Given the description of an element on the screen output the (x, y) to click on. 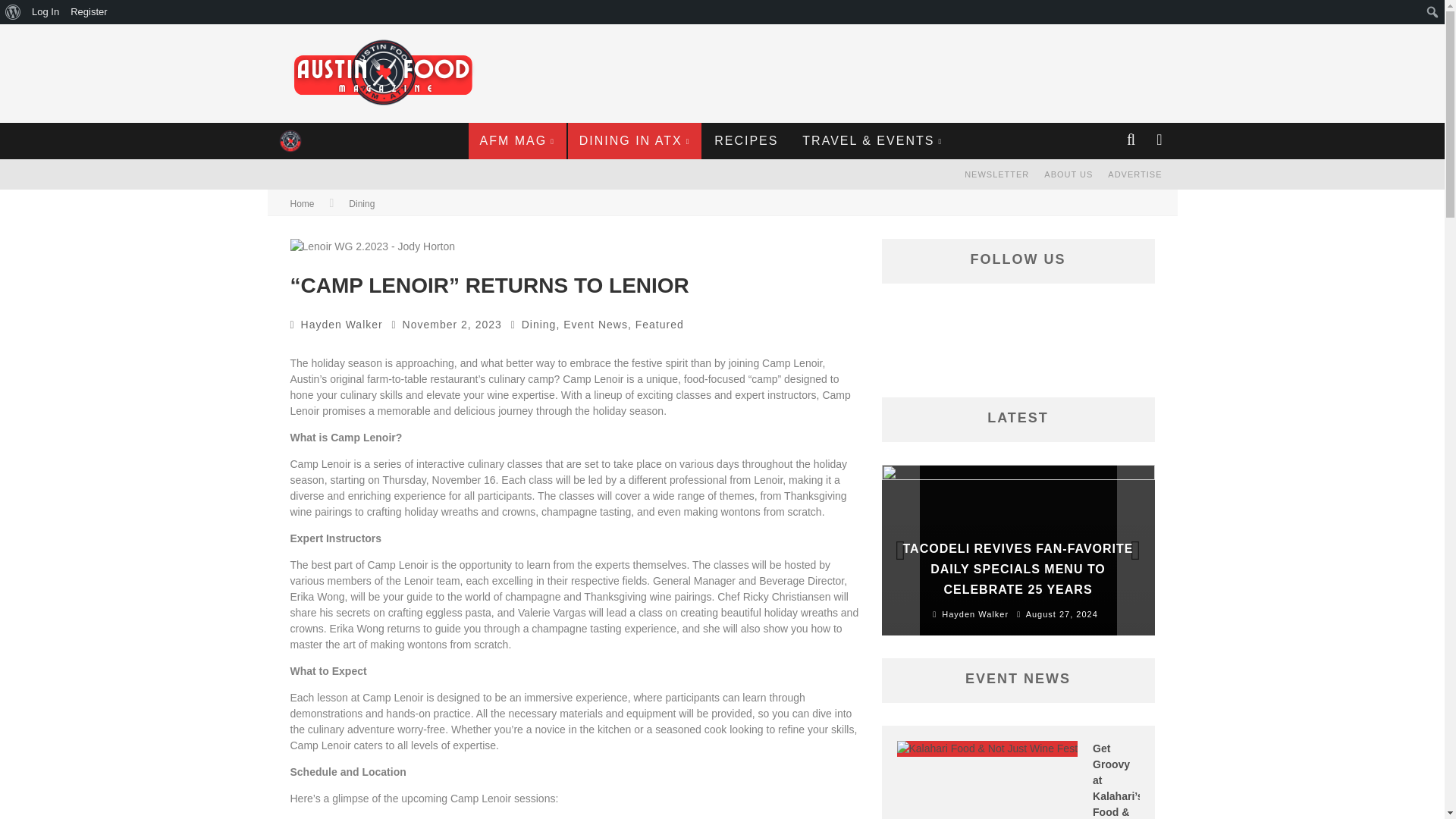
Log In (721, 510)
DINING IN ATX (634, 140)
Register (721, 520)
View all posts in Dining (538, 324)
View all posts in Dining (361, 204)
AFM MAG (517, 140)
View all posts in Event News (595, 324)
